Given the description of an element on the screen output the (x, y) to click on. 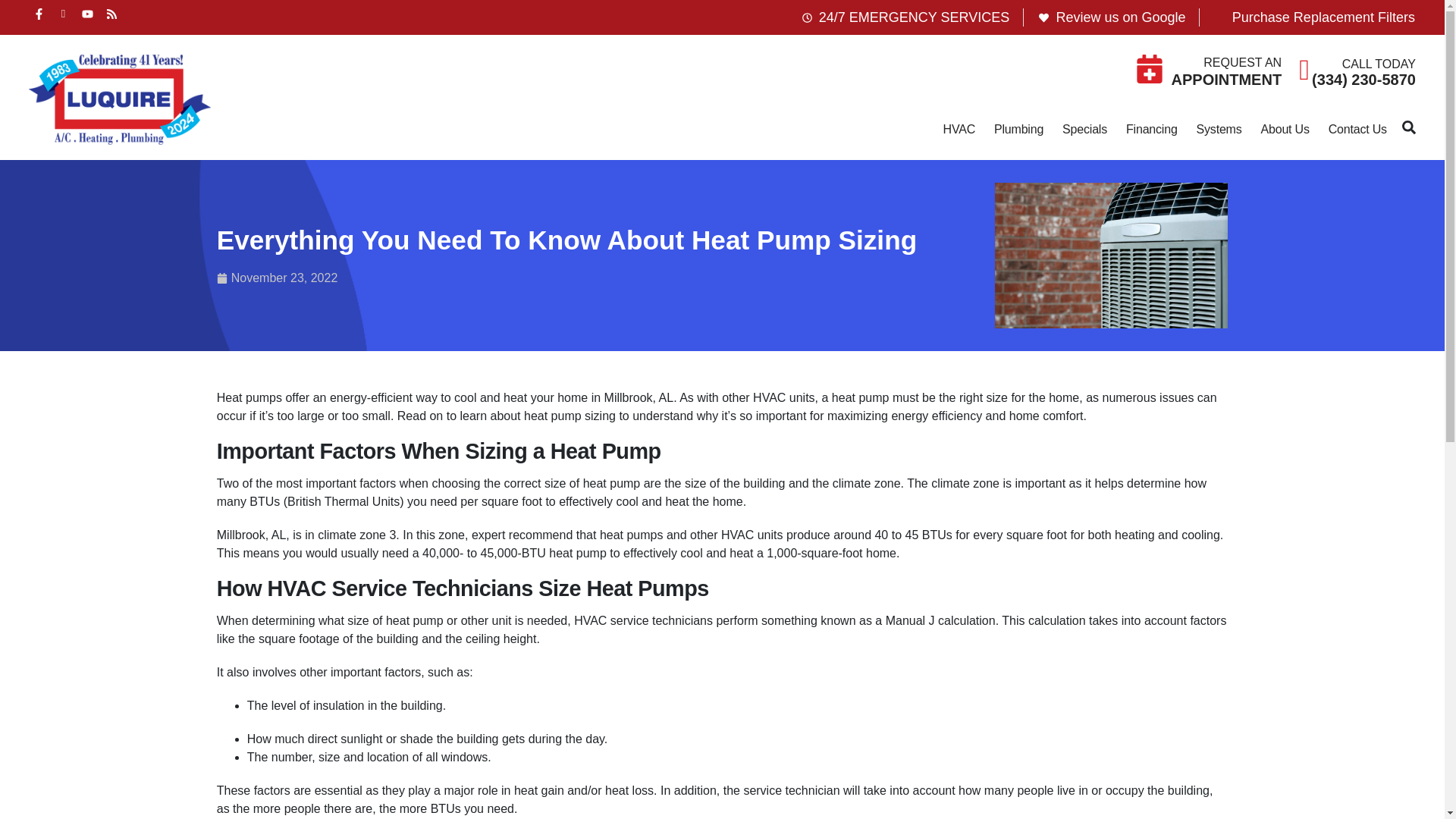
Systems (1218, 129)
Plumbing (1018, 129)
HVAC (959, 129)
Purchase Replacement Filters (1313, 17)
CALL TODAY (1378, 63)
About Us (1284, 129)
REQUEST AN (1242, 62)
Specials (1084, 129)
Financing (1151, 129)
Review us on Google (1110, 17)
